Given the description of an element on the screen output the (x, y) to click on. 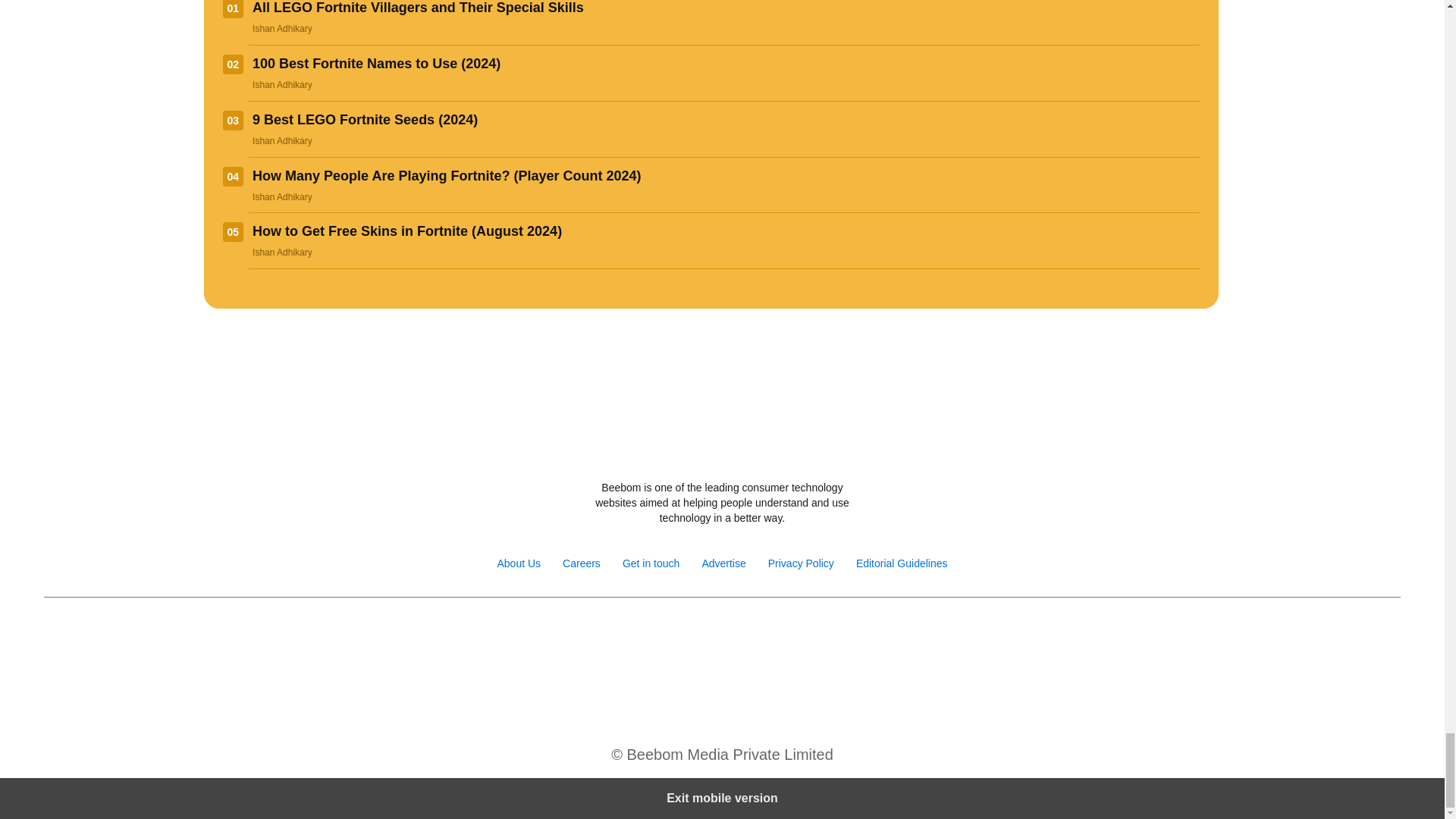
Facebook (640, 635)
Instagram (672, 635)
Beebom (721, 447)
